Given the description of an element on the screen output the (x, y) to click on. 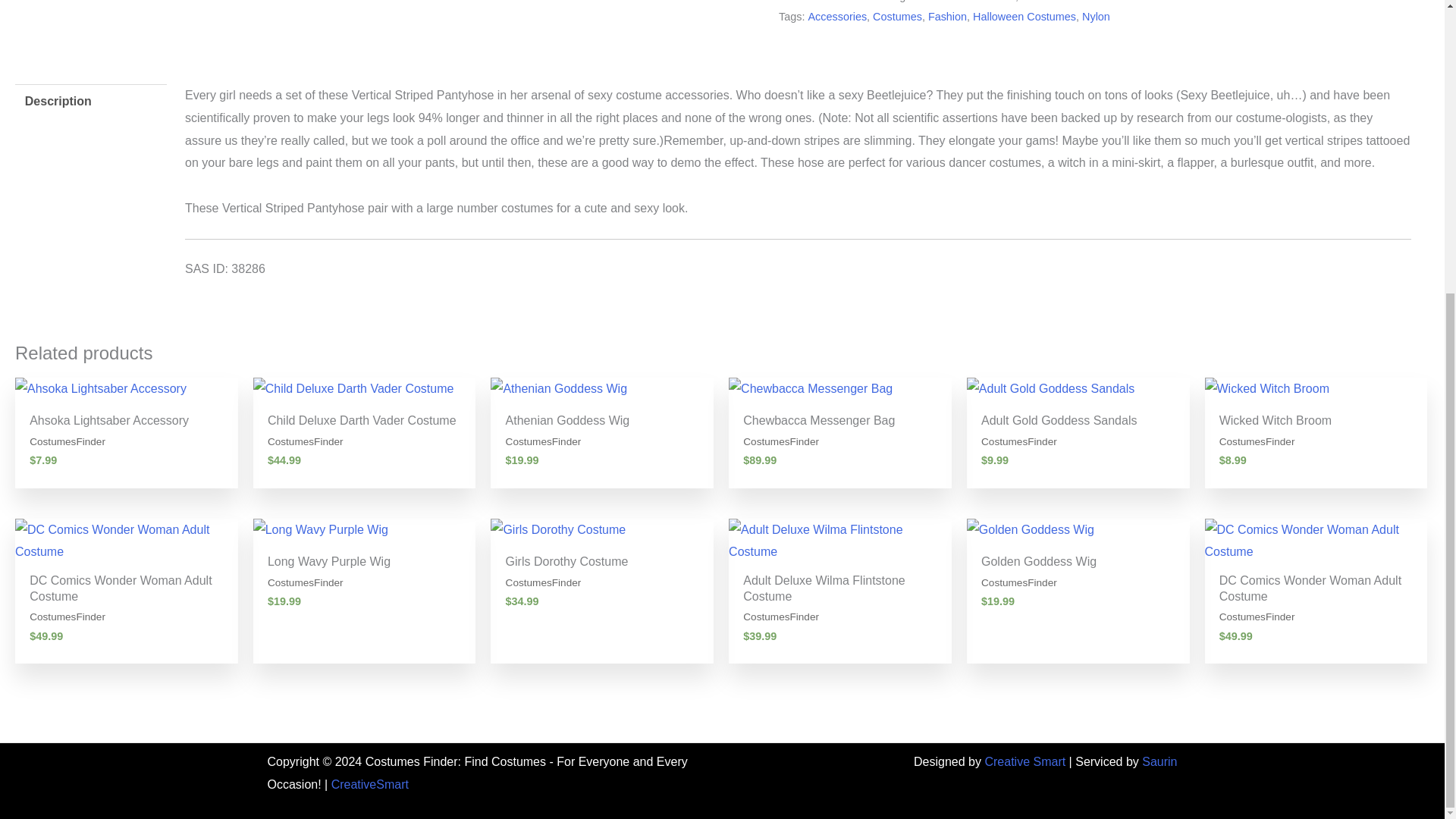
Golden Goddess Wig (1077, 529)
Long Wavy Purple Wig (364, 529)
Child Deluxe Darth Vader Costume (364, 388)
Wicked Witch Broom (1316, 388)
Adult Deluxe Wilma Flintstone Costume (840, 540)
DC Comics Wonder Woman Adult Costume (126, 540)
Adult Gold Goddess Sandals (1077, 388)
DC Comics Wonder Woman Adult Costume (1316, 540)
Girls Dorothy Costume (601, 529)
Ahsoka Lightsaber Accessory (126, 388)
